Given the description of an element on the screen output the (x, y) to click on. 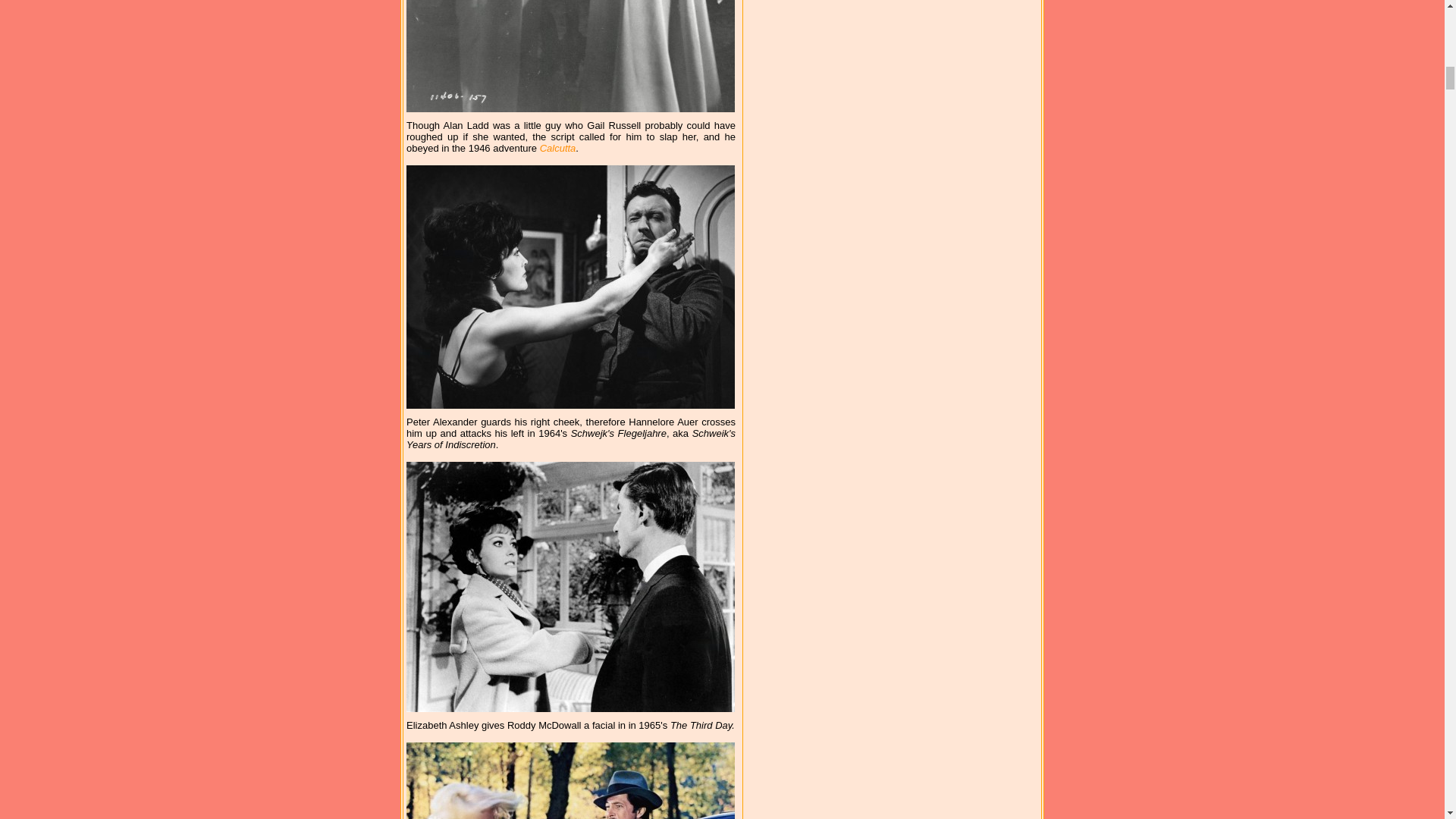
Calcutta (558, 147)
